Given the description of an element on the screen output the (x, y) to click on. 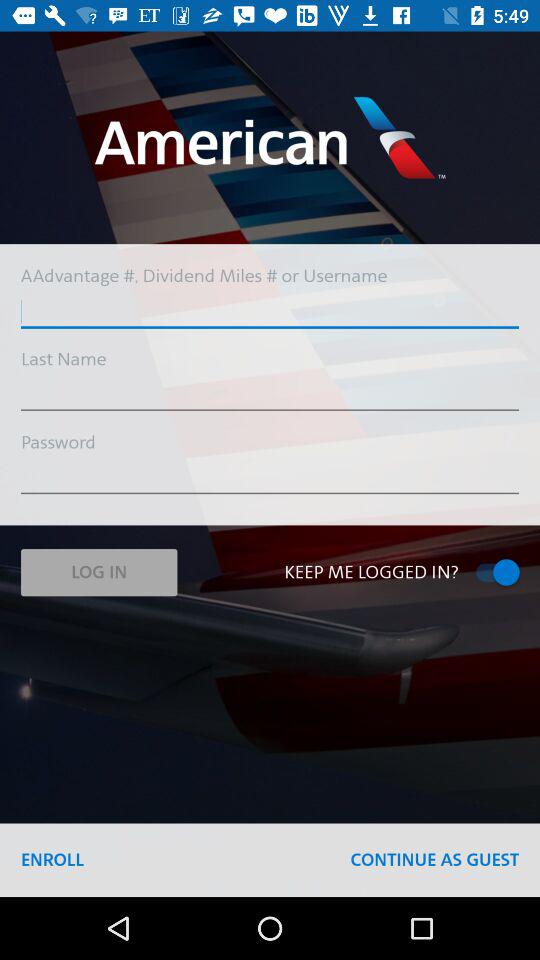
flip until the continue as guest icon (434, 859)
